Given the description of an element on the screen output the (x, y) to click on. 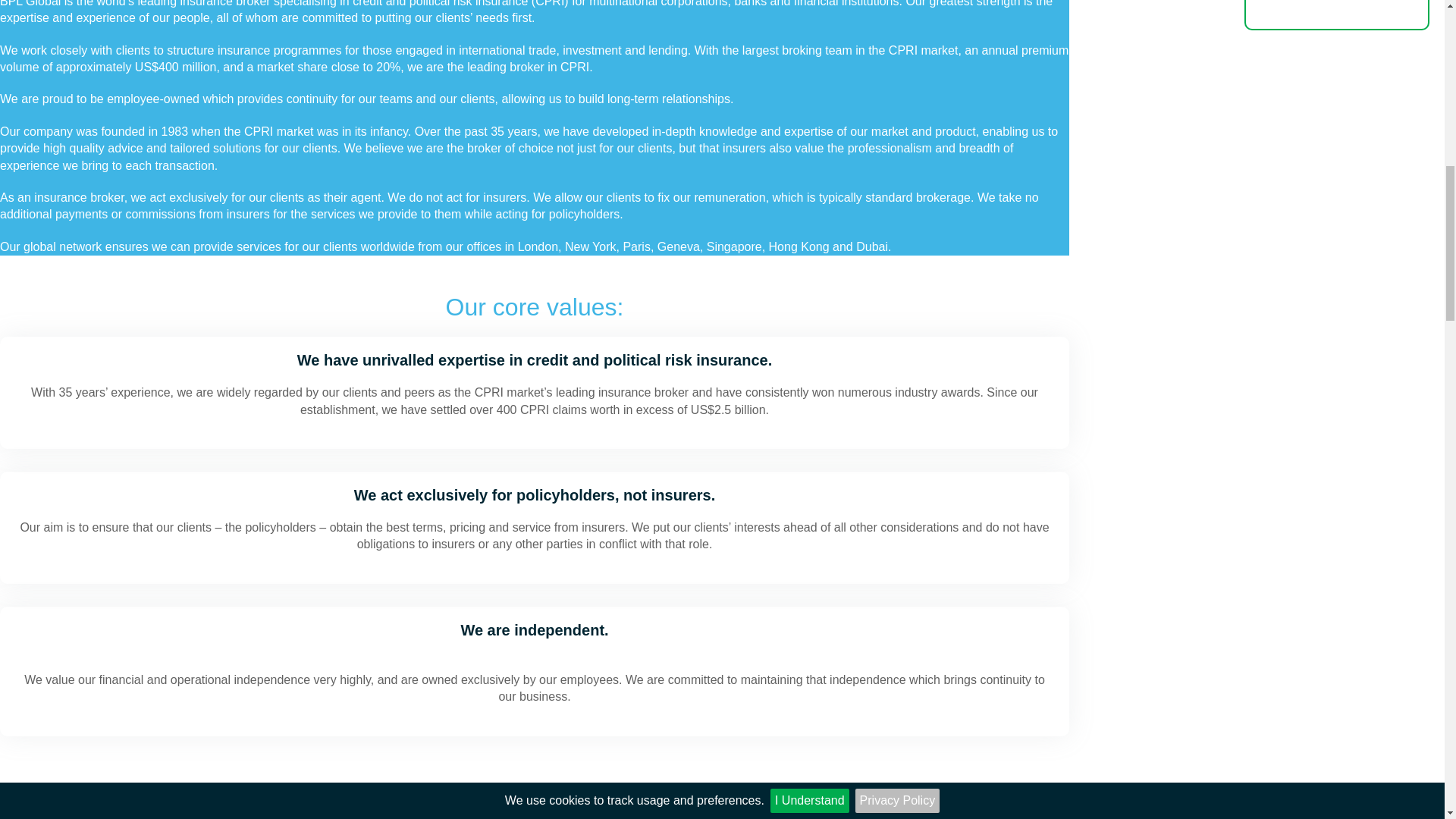
WATCH ON DEMAND (1336, 15)
